Given the description of an element on the screen output the (x, y) to click on. 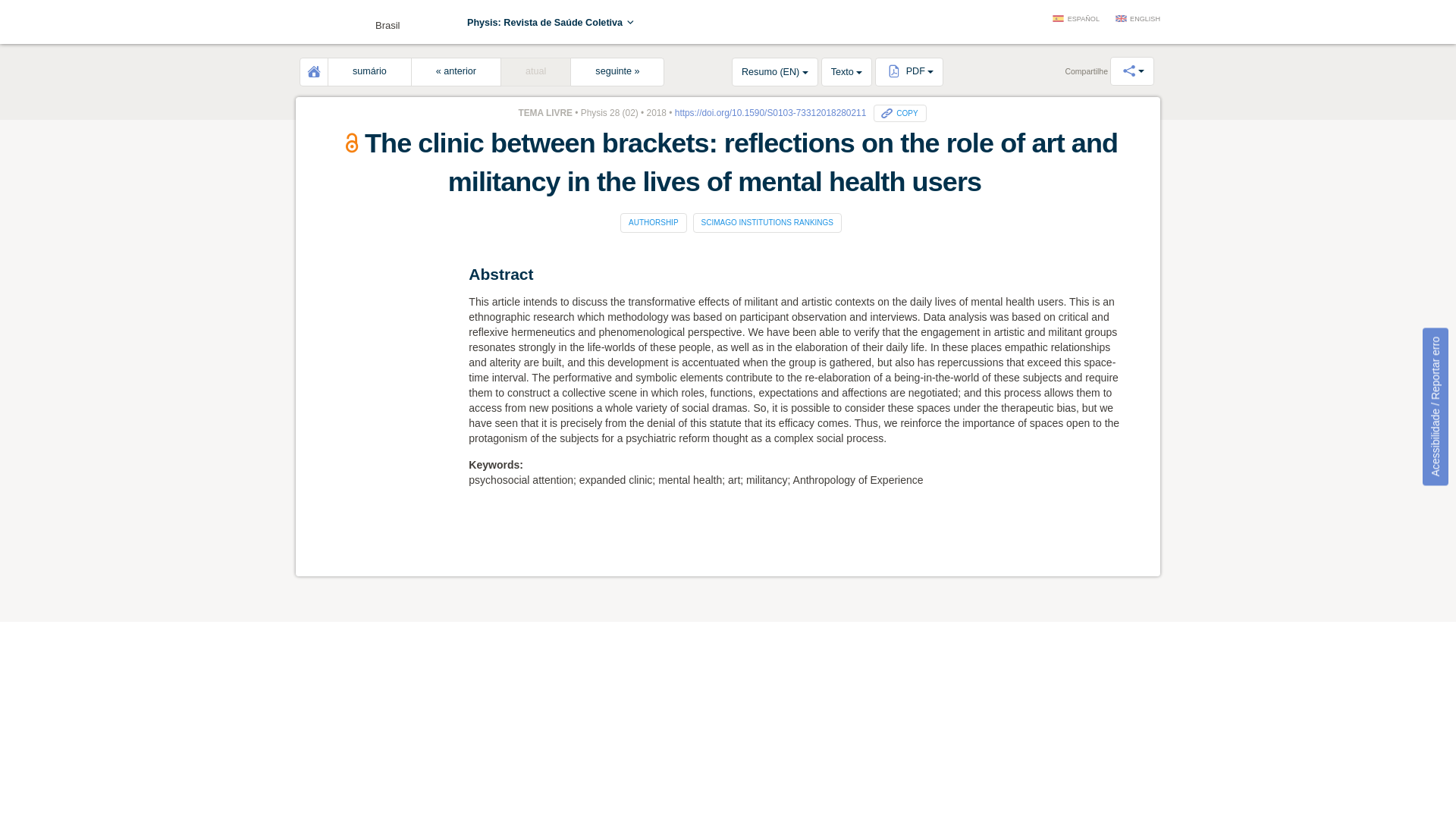
ENGLISH (1137, 19)
Abrir menu (317, 23)
Abrir menu (317, 23)
Brasil (352, 21)
